Given the description of an element on the screen output the (x, y) to click on. 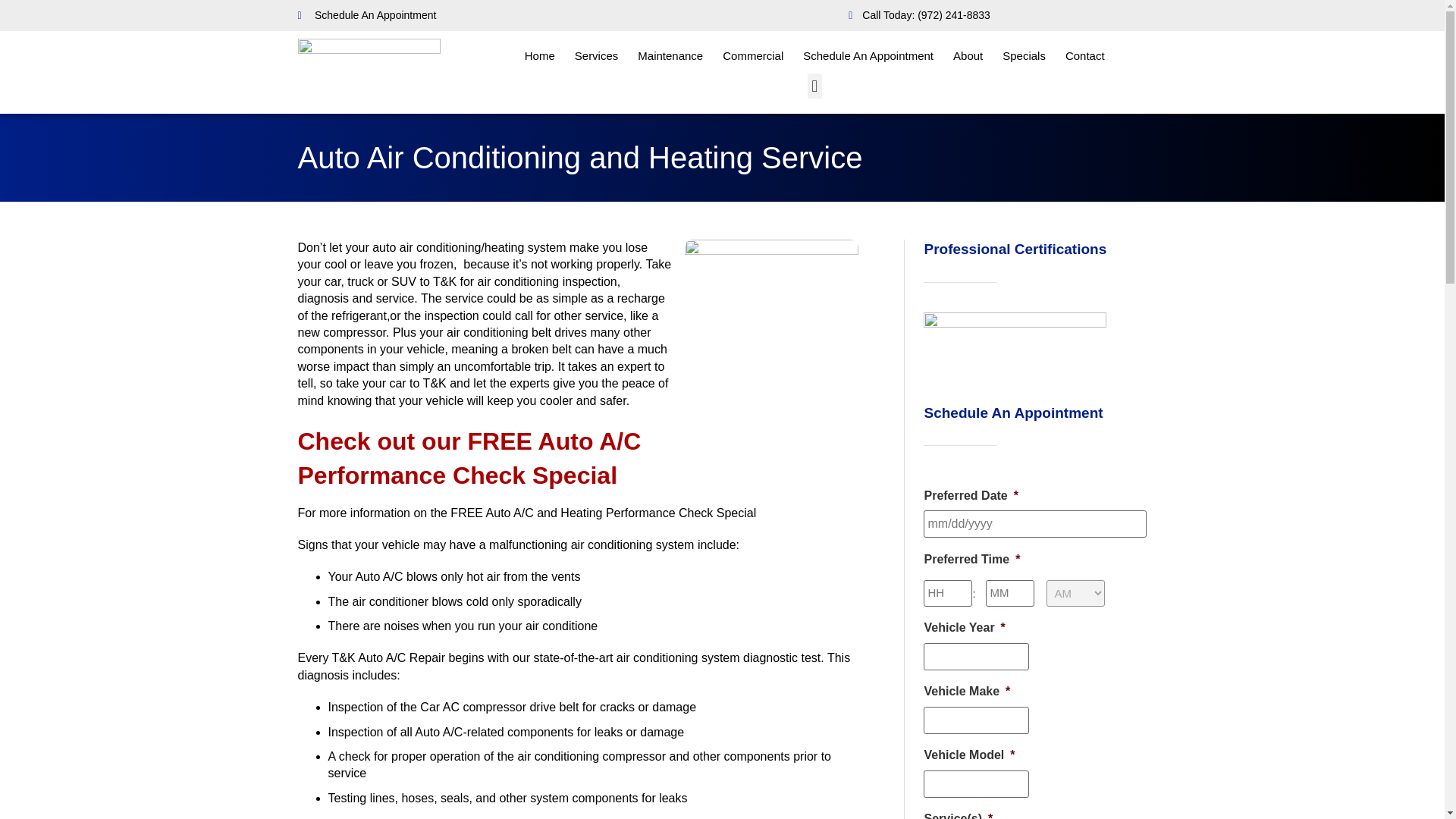
Contact (1085, 55)
Maintenance (670, 55)
Services (596, 55)
Commercial (752, 55)
Schedule An Appointment (868, 55)
Schedule An Appointment (366, 15)
Specials (1024, 55)
